Given the description of an element on the screen output the (x, y) to click on. 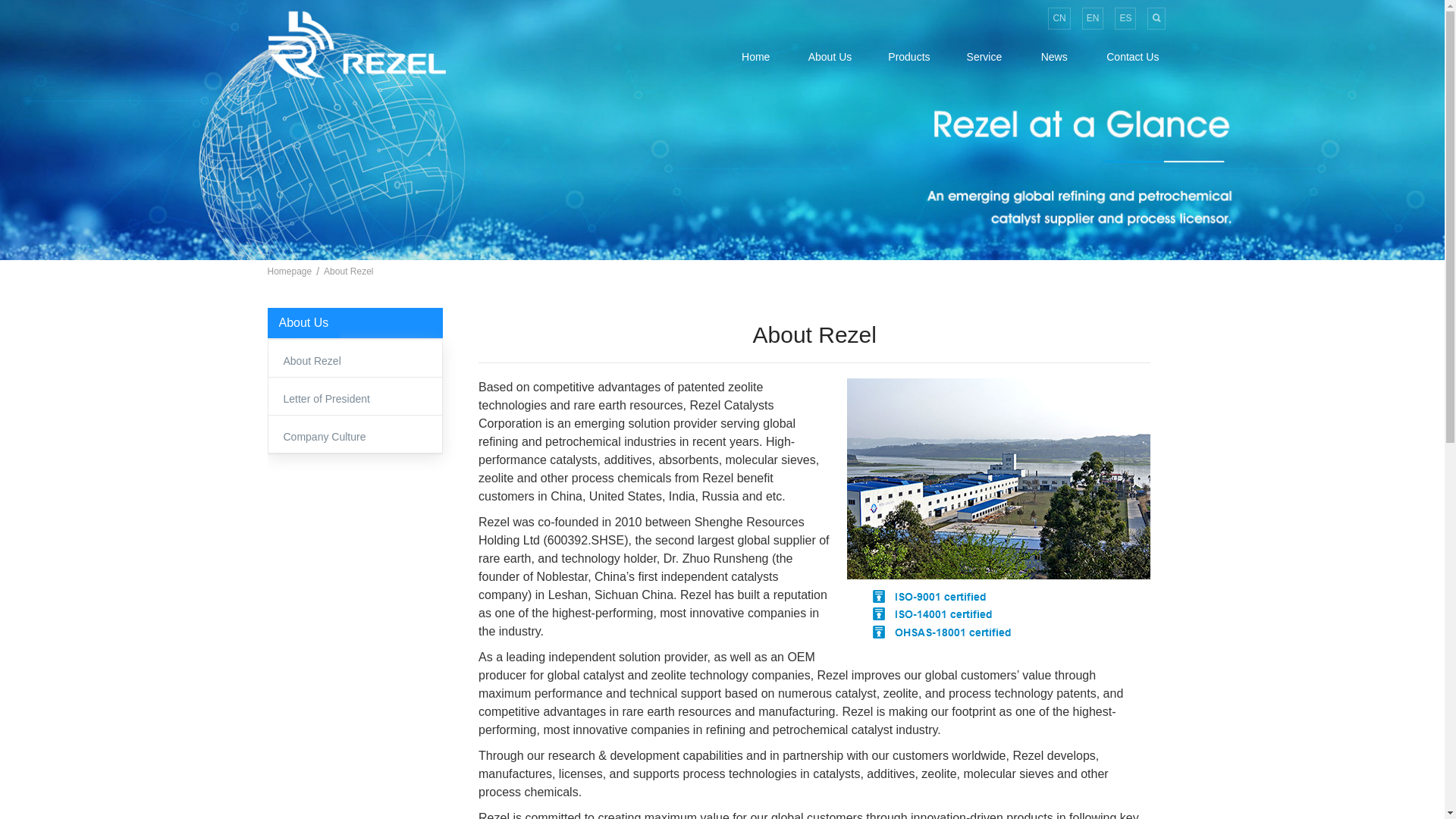
EN (1092, 18)
ES (1125, 18)
CN (1058, 18)
Rezel Catalysts Corporation (356, 44)
